Given the description of an element on the screen output the (x, y) to click on. 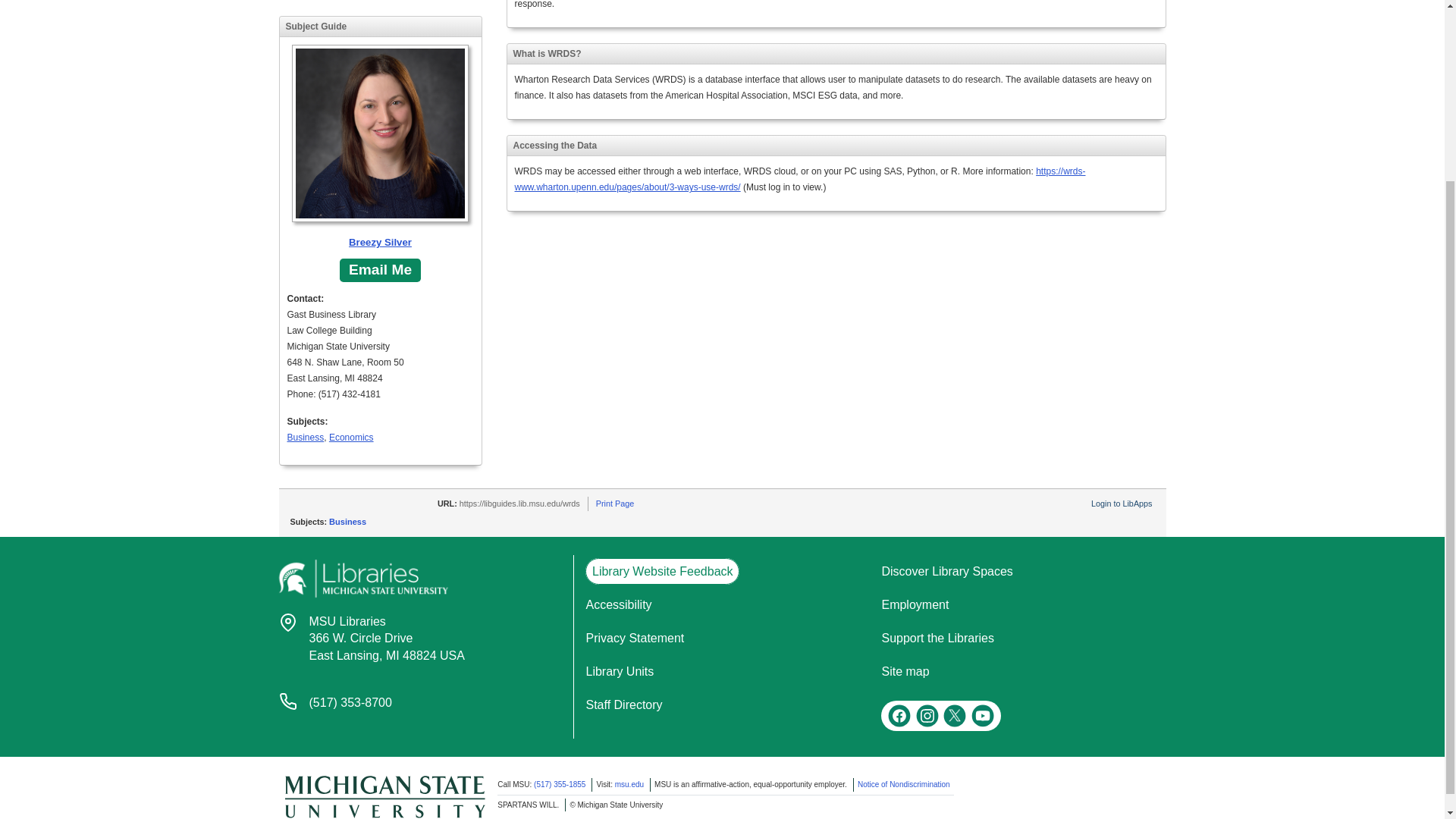
Michigan State University Libraries address (288, 622)
Breezy Silver (386, 638)
Discover Library Spaces (379, 147)
Site map (945, 571)
Email Me (904, 671)
Staff Directory (379, 269)
Library Units (623, 704)
Economics (619, 671)
Accessibility (351, 437)
Employment (617, 604)
Michigan State University Libraries phone number (914, 604)
Privacy Statement (288, 701)
Print Page (634, 637)
Business (614, 502)
